Given the description of an element on the screen output the (x, y) to click on. 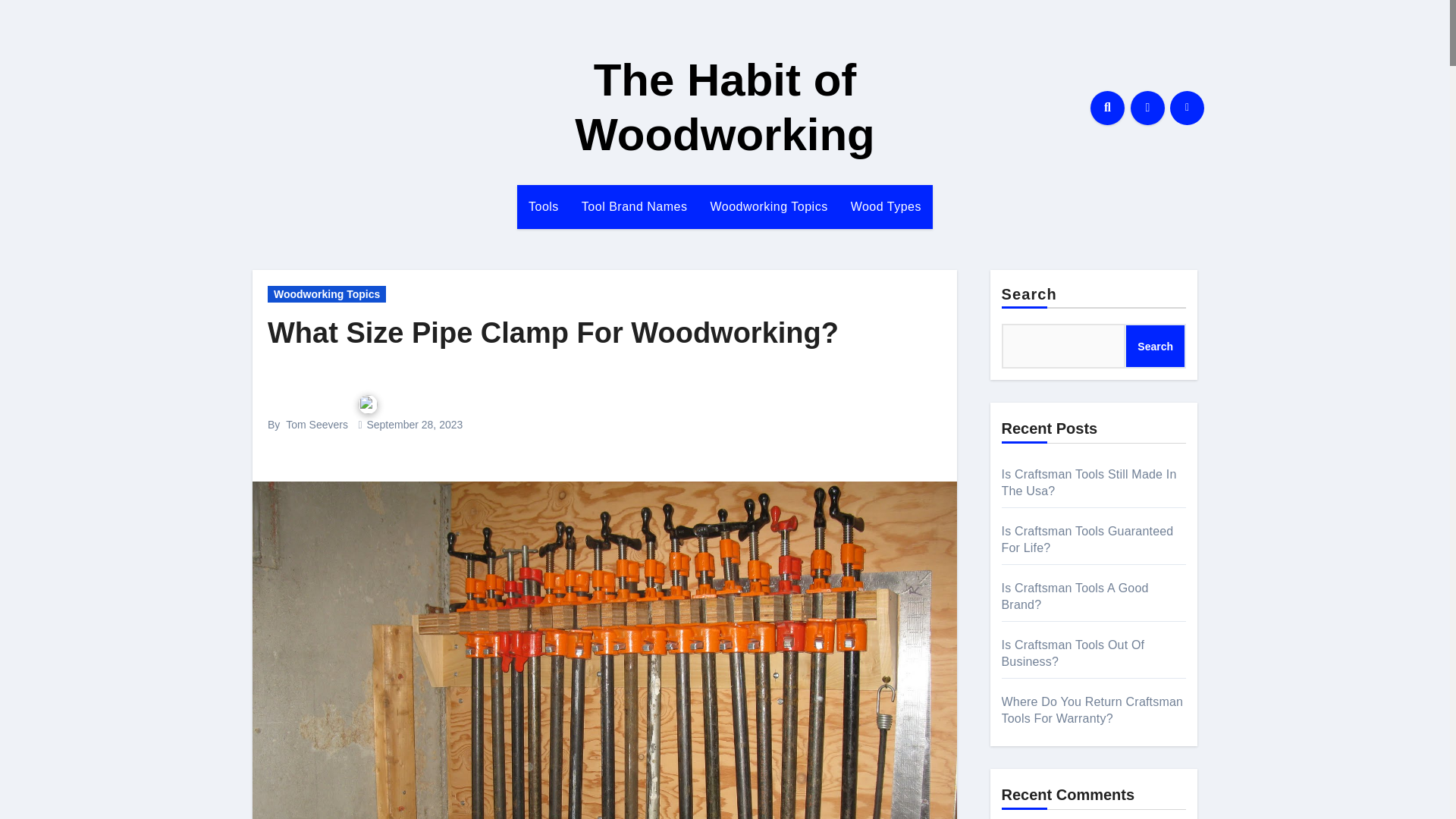
Wood Types (886, 207)
Tool Brand Names (634, 207)
Tool Brand Names (634, 207)
Tools (543, 207)
Tom Seevers (316, 424)
Woodworking Topics (768, 207)
Permalink to: What Size Pipe Clamp For Woodworking? (552, 332)
Woodworking Topics (326, 293)
The Habit of Woodworking (725, 106)
What Size Pipe Clamp For Woodworking? (552, 332)
